Given the description of an element on the screen output the (x, y) to click on. 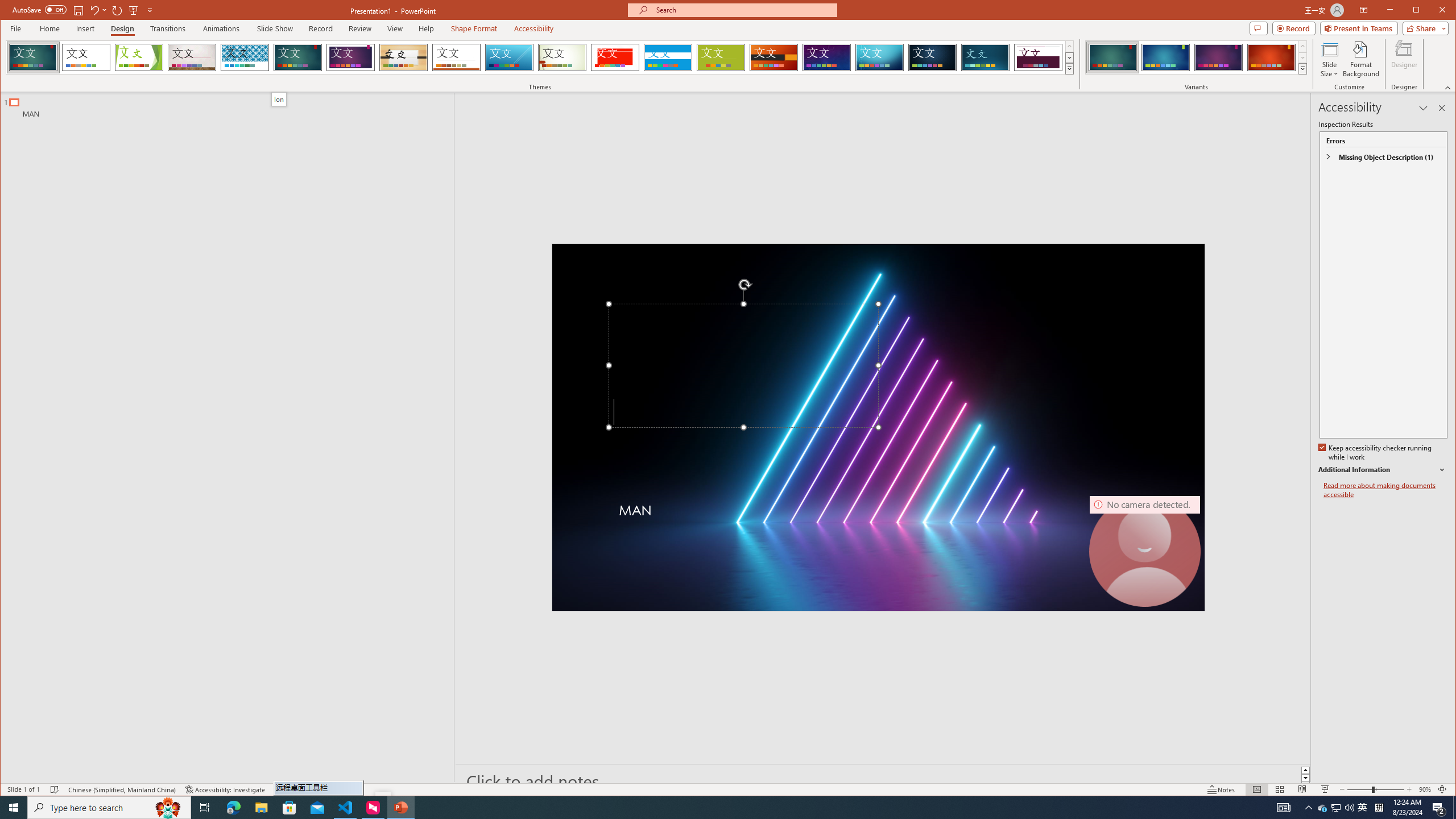
Microsoft Store (289, 807)
Subtitle TextBox (850, 522)
Designer (1404, 59)
Help (426, 28)
Tray Input Indicator - Chinese (Simplified, China) (1378, 807)
AutomationID: SlideThemesGallery (540, 57)
Atlas (615, 57)
Title TextBox (742, 365)
Comments (1258, 28)
Neon laser lights aligned to form a triangle (877, 427)
Task View (204, 807)
Ion Variant 4 (1270, 57)
Zoom Out (1358, 789)
